Given the description of an element on the screen output the (x, y) to click on. 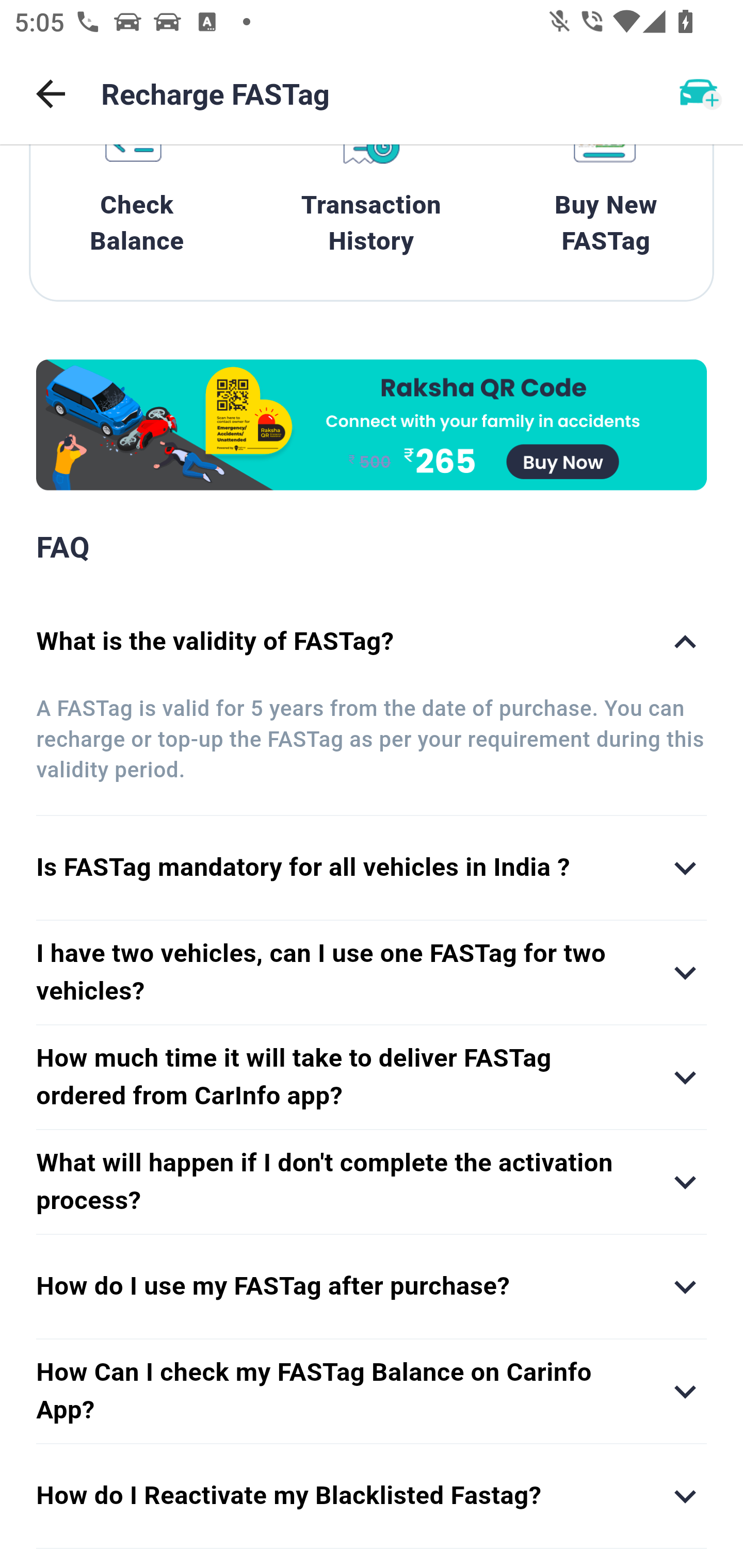
Back (50, 93)
Check
Balance (136, 208)
Transaction
History (371, 208)
Buy New
FASTag (605, 208)
Is FASTag mandatory for all vehicles in India ? (371, 867)
How do I use my FASTag after purchase? (371, 1286)
How Can I check my FASTag Balance on Carinfo App? (371, 1391)
How do I Reactivate my Blacklisted Fastag? (371, 1496)
